Given the description of an element on the screen output the (x, y) to click on. 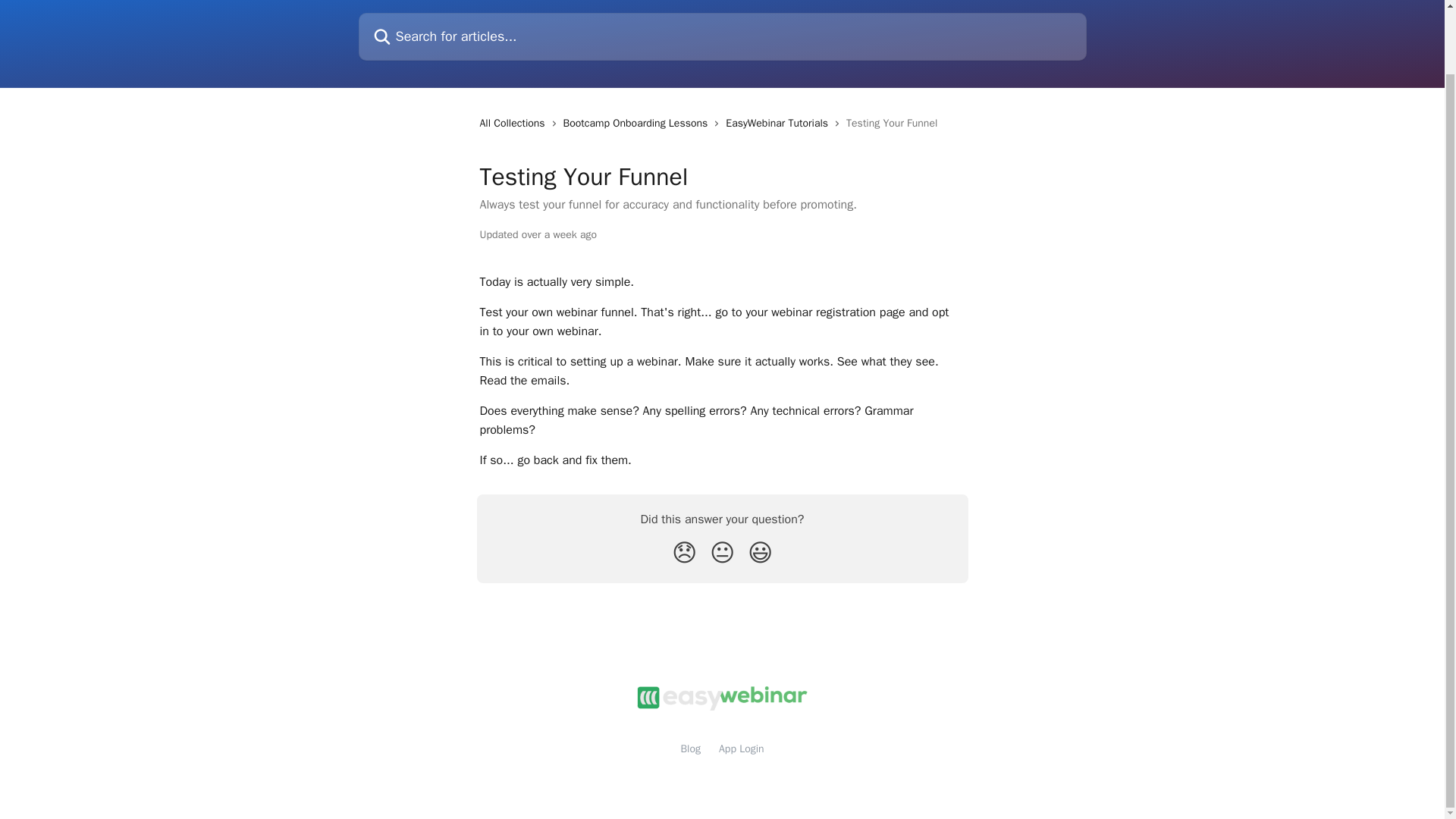
All Collections (514, 123)
Blog (689, 748)
EasyWebinar Tutorials (779, 123)
App Login (741, 748)
Bootcamp Onboarding Lessons (638, 123)
